Given the description of an element on the screen output the (x, y) to click on. 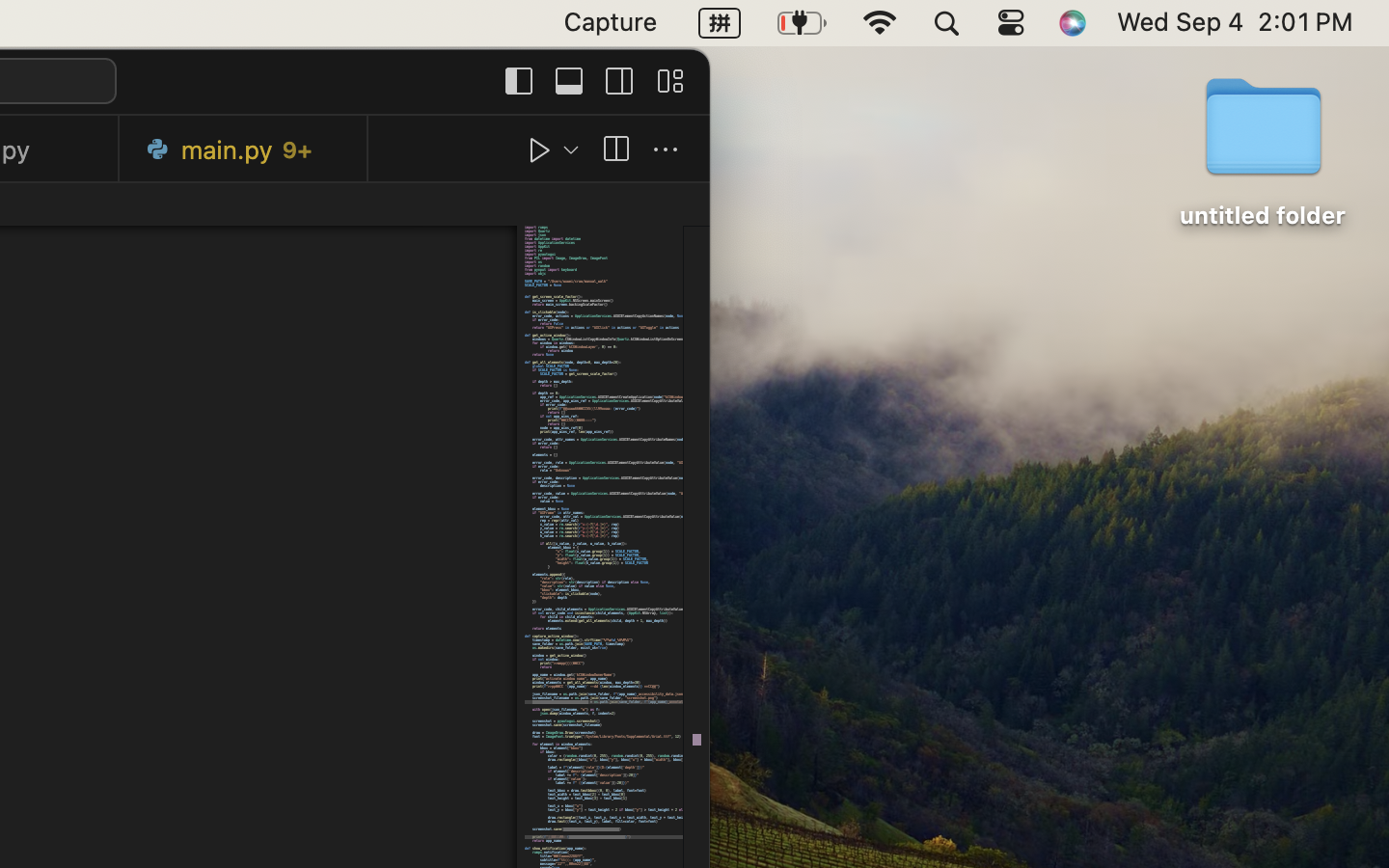
0 main.py   9+ Element type: AXRadioButton (243, 149)
 Element type: AXButton (669, 80)
 Element type: AXCheckBox (619, 80)
 Element type: AXButton (615, 150)
 Element type: AXCheckBox (568, 80)
